Given the description of an element on the screen output the (x, y) to click on. 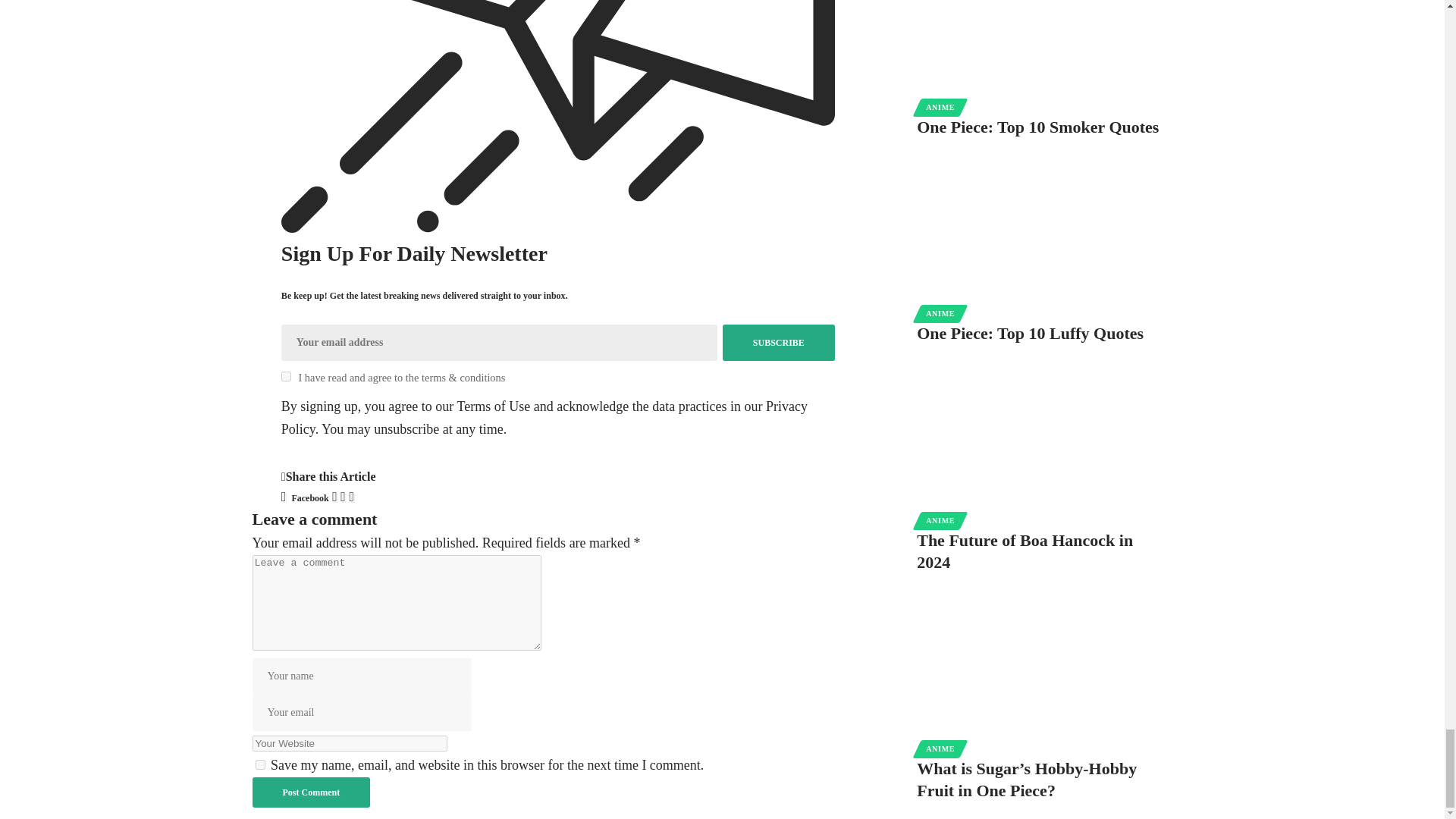
1 (286, 376)
yes (259, 764)
Post Comment (310, 792)
SUBSCRIBE (778, 342)
